Given the description of an element on the screen output the (x, y) to click on. 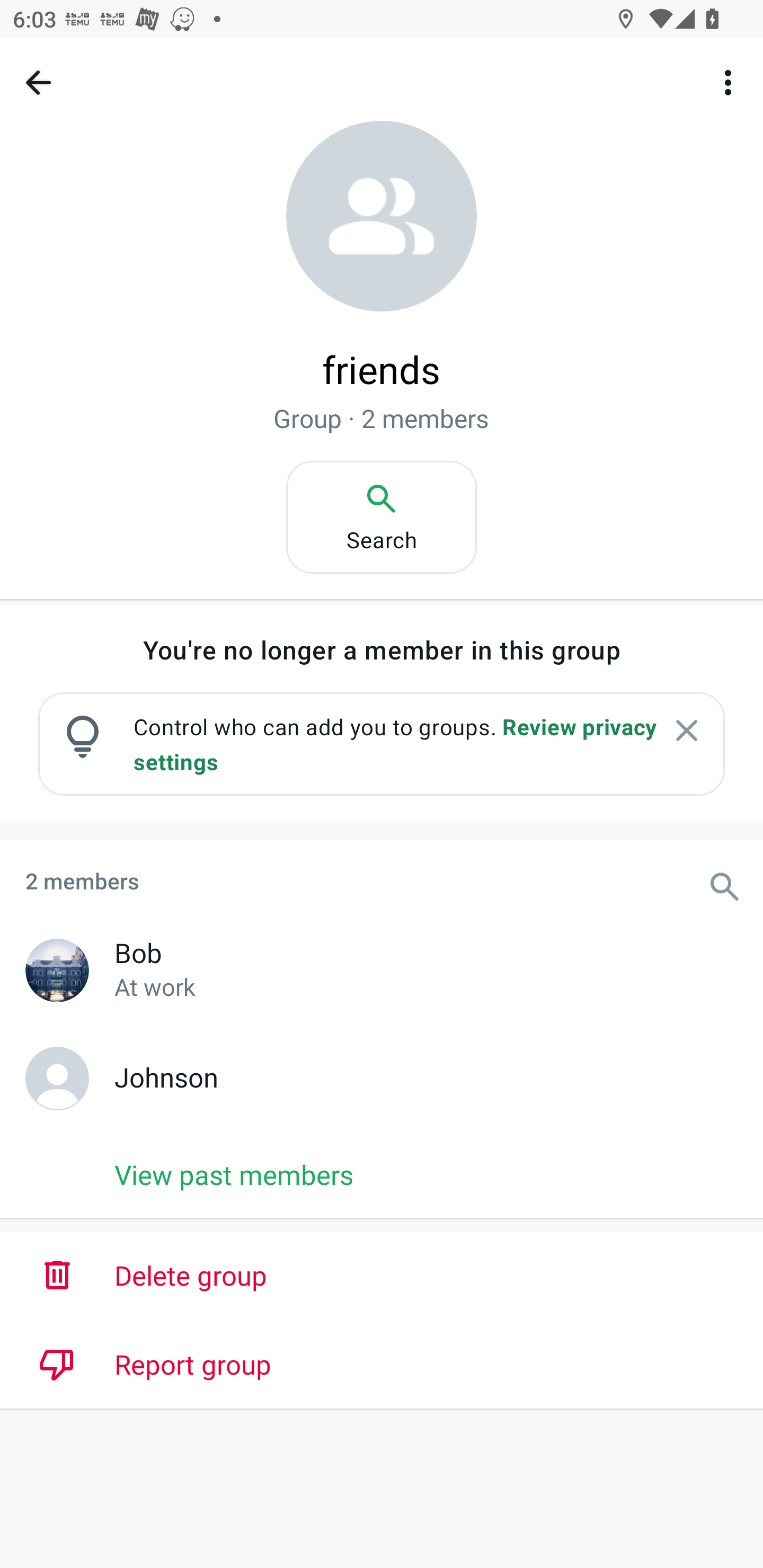
Navigate up (38, 82)
More options (731, 81)
Profile photo (381, 216)
Search (381, 516)
dismiss (686, 730)
Search members (734, 877)
Bob Bob ‎At work (381, 968)
Bob (59, 972)
Johnson (381, 1076)
Johnson (59, 1080)
View past members (381, 1174)
Delete group (381, 1275)
Report group (381, 1364)
